Given the description of an element on the screen output the (x, y) to click on. 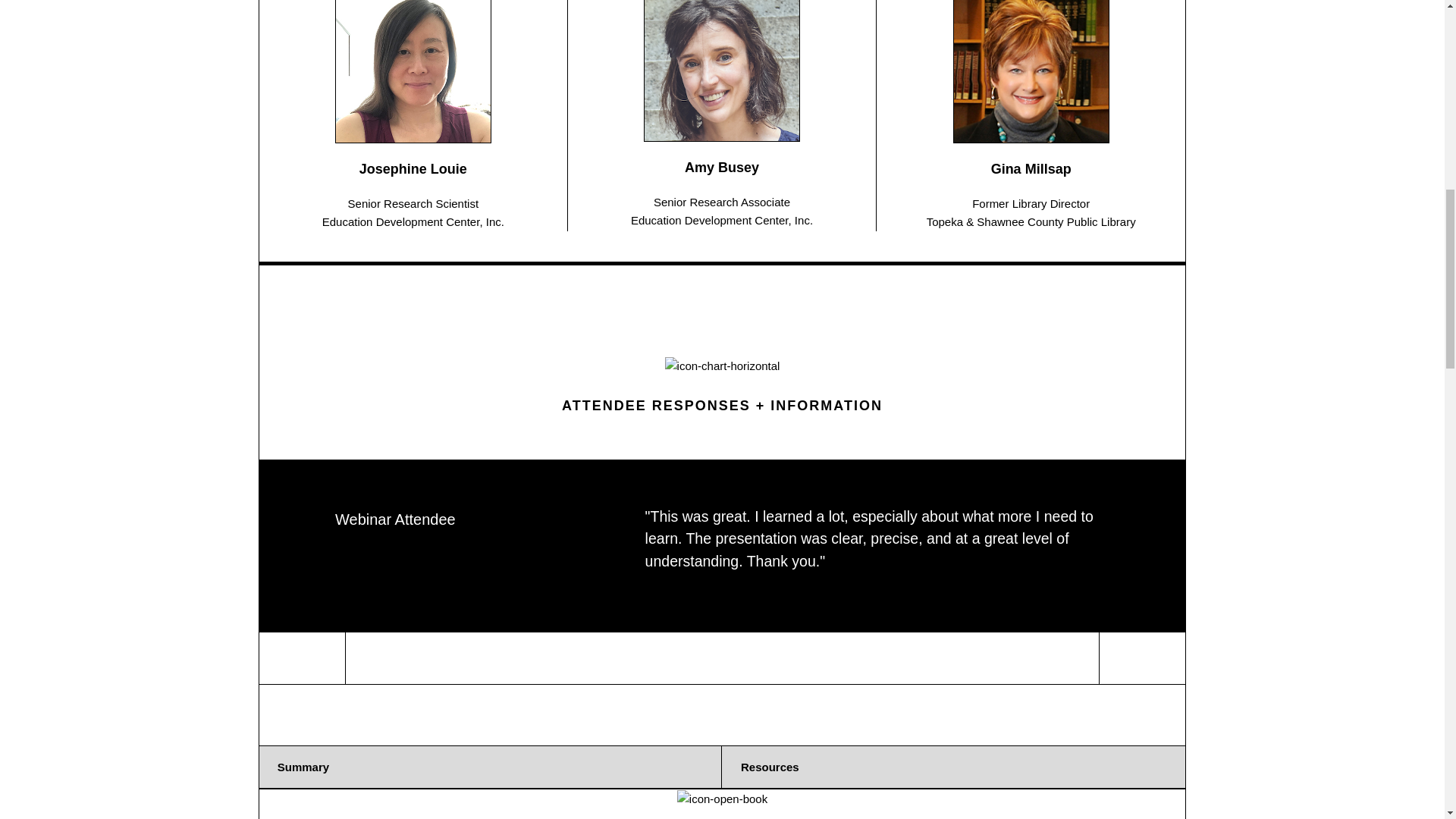
icon-chart-horizontal (722, 366)
